Given the description of an element on the screen output the (x, y) to click on. 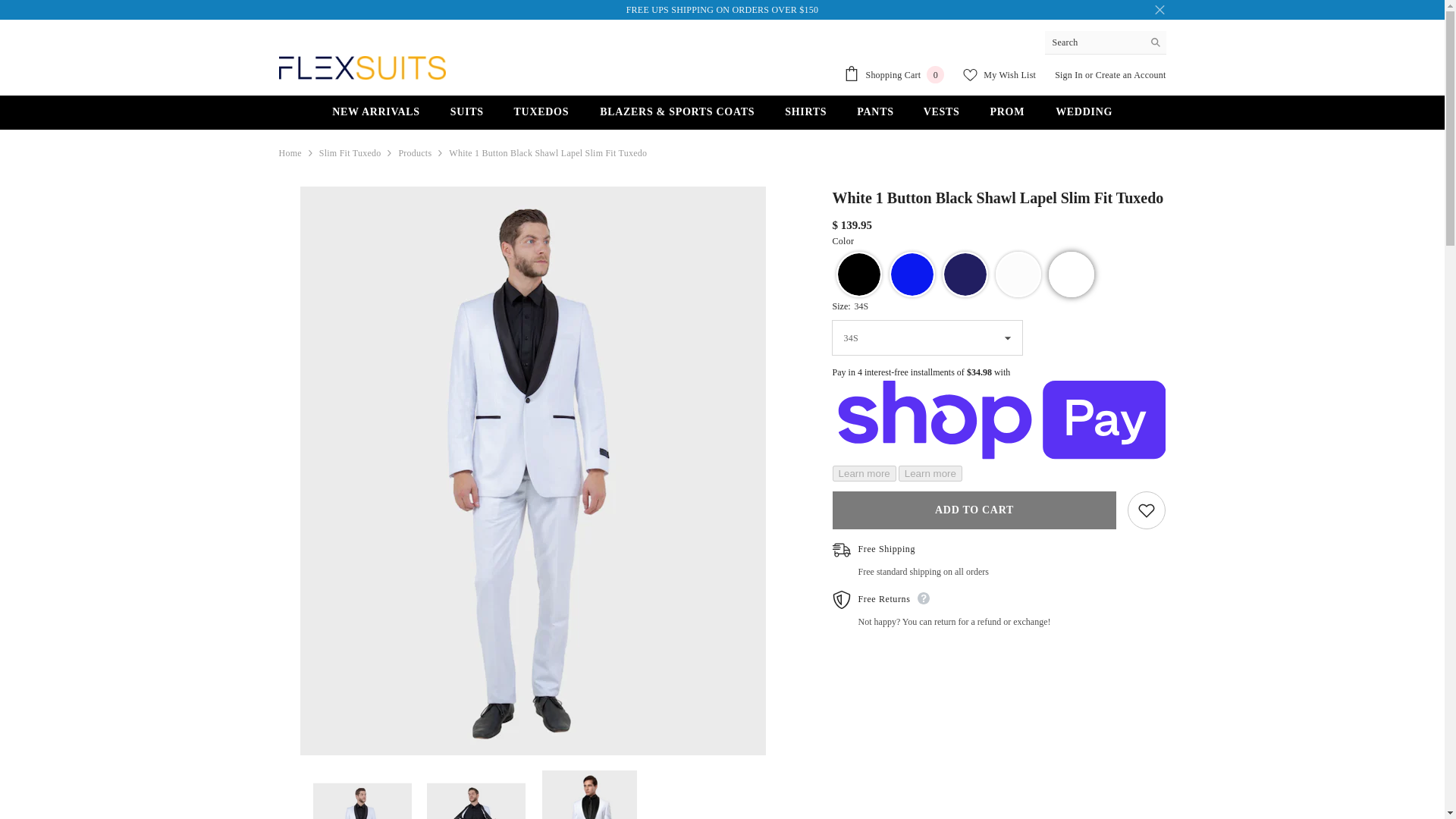
Create an Account (1131, 74)
Sign In (1068, 74)
My Wish List (998, 74)
White One Button Satin Shawl Lapel Collar Slim Fit Tuxedo (1018, 274)
Blue One Button Satin Shawl Lapel Collar Slim Fit Tuxedo (911, 274)
Close (1159, 9)
Navy One Button Satin Shawl Lapel Collar Slim Fit Tuxedo (965, 274)
SUITS (467, 116)
